Given the description of an element on the screen output the (x, y) to click on. 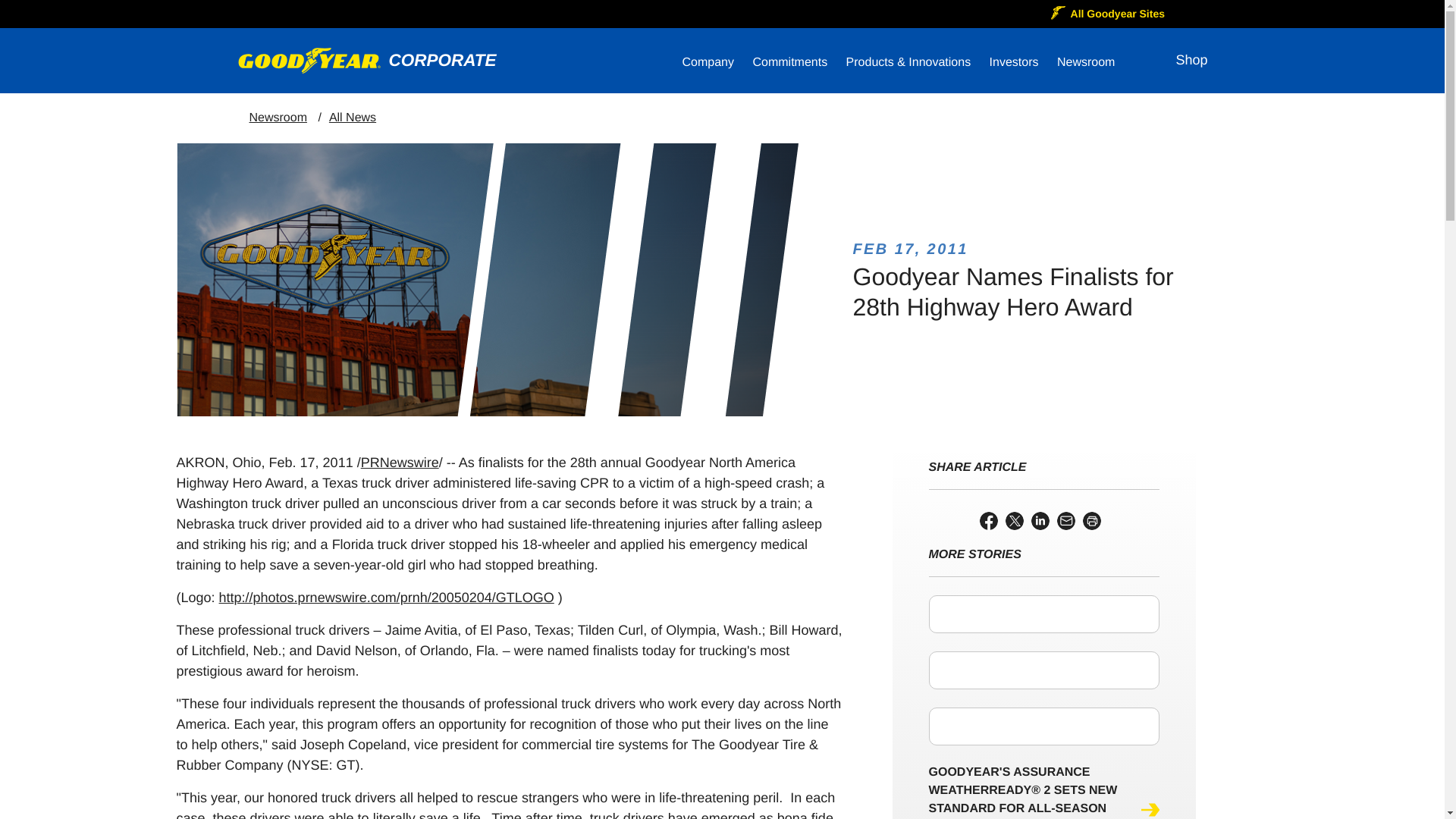
Commitments (789, 63)
Linkedin Share (1039, 520)
Facebook Share (988, 520)
Twitter Share (1014, 520)
Open a printable version of this page (1091, 520)
Company (707, 63)
Investors (1014, 63)
Email the URL of this page to a friend (1066, 520)
Shop (1190, 59)
Newsroom (1086, 63)
